Given the description of an element on the screen output the (x, y) to click on. 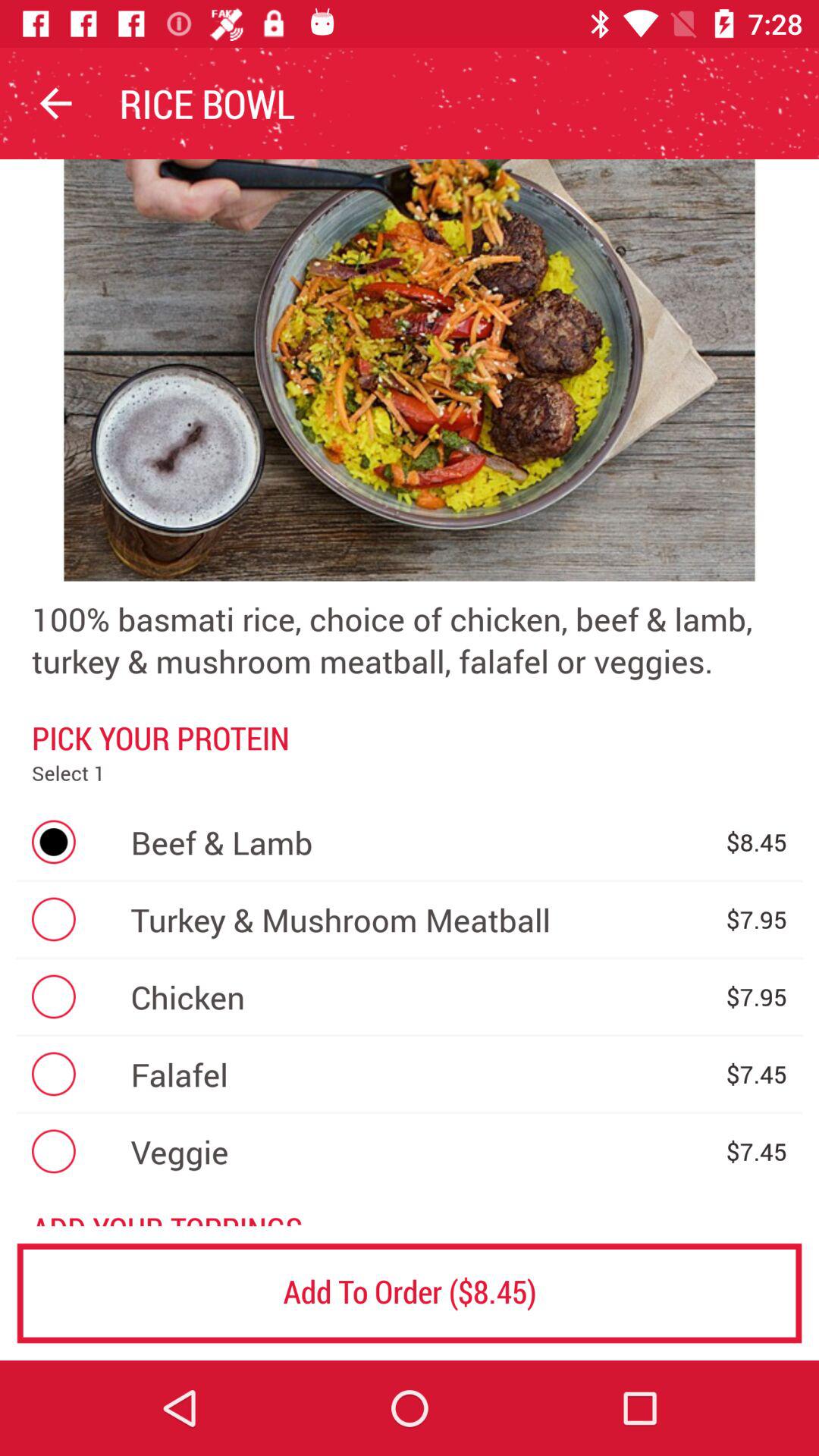
turn off the item below falafel item (420, 1151)
